Given the description of an element on the screen output the (x, y) to click on. 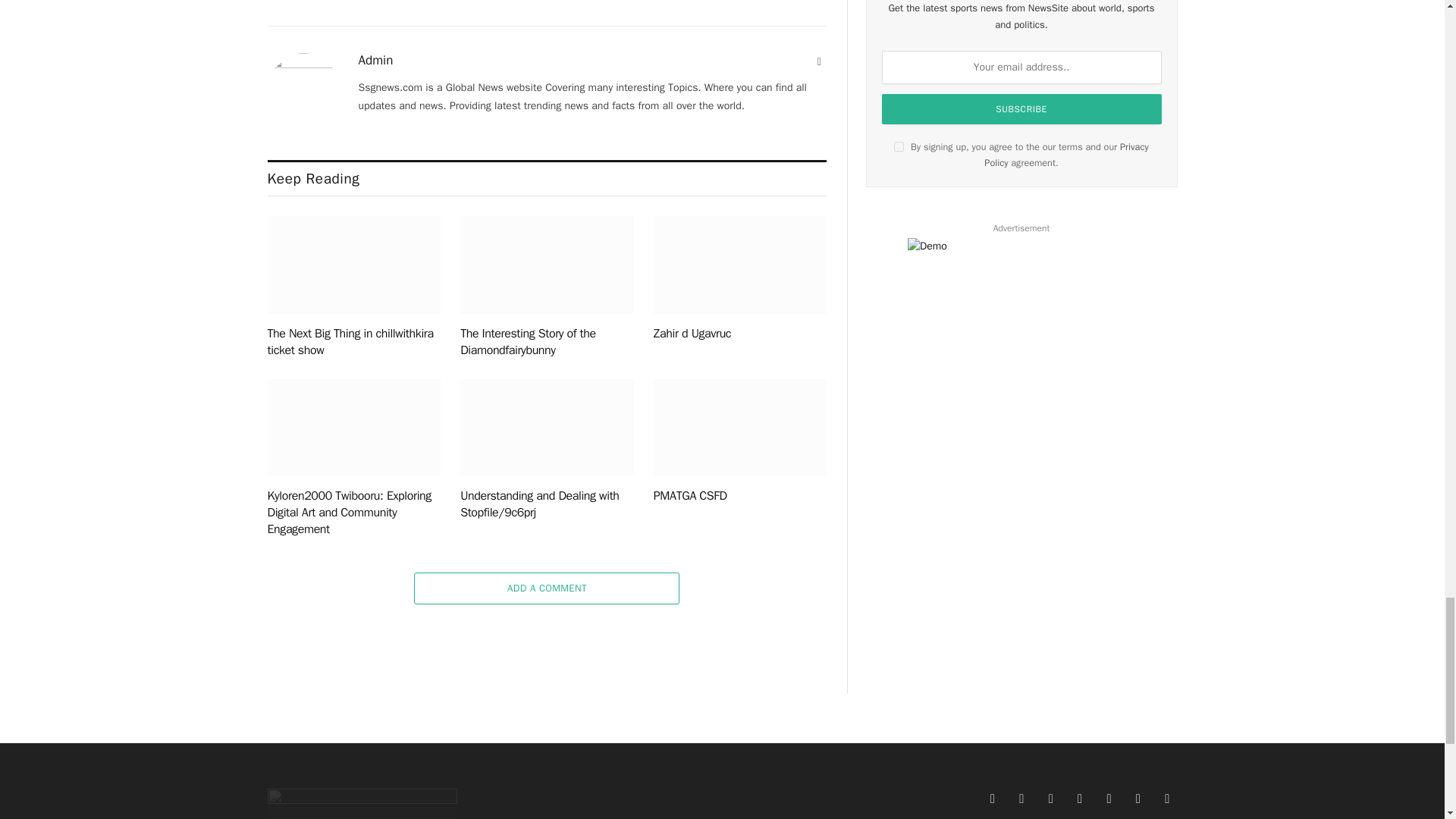
on (898, 146)
Subscribe (1021, 109)
Posts by Admin (375, 60)
